Given the description of an element on the screen output the (x, y) to click on. 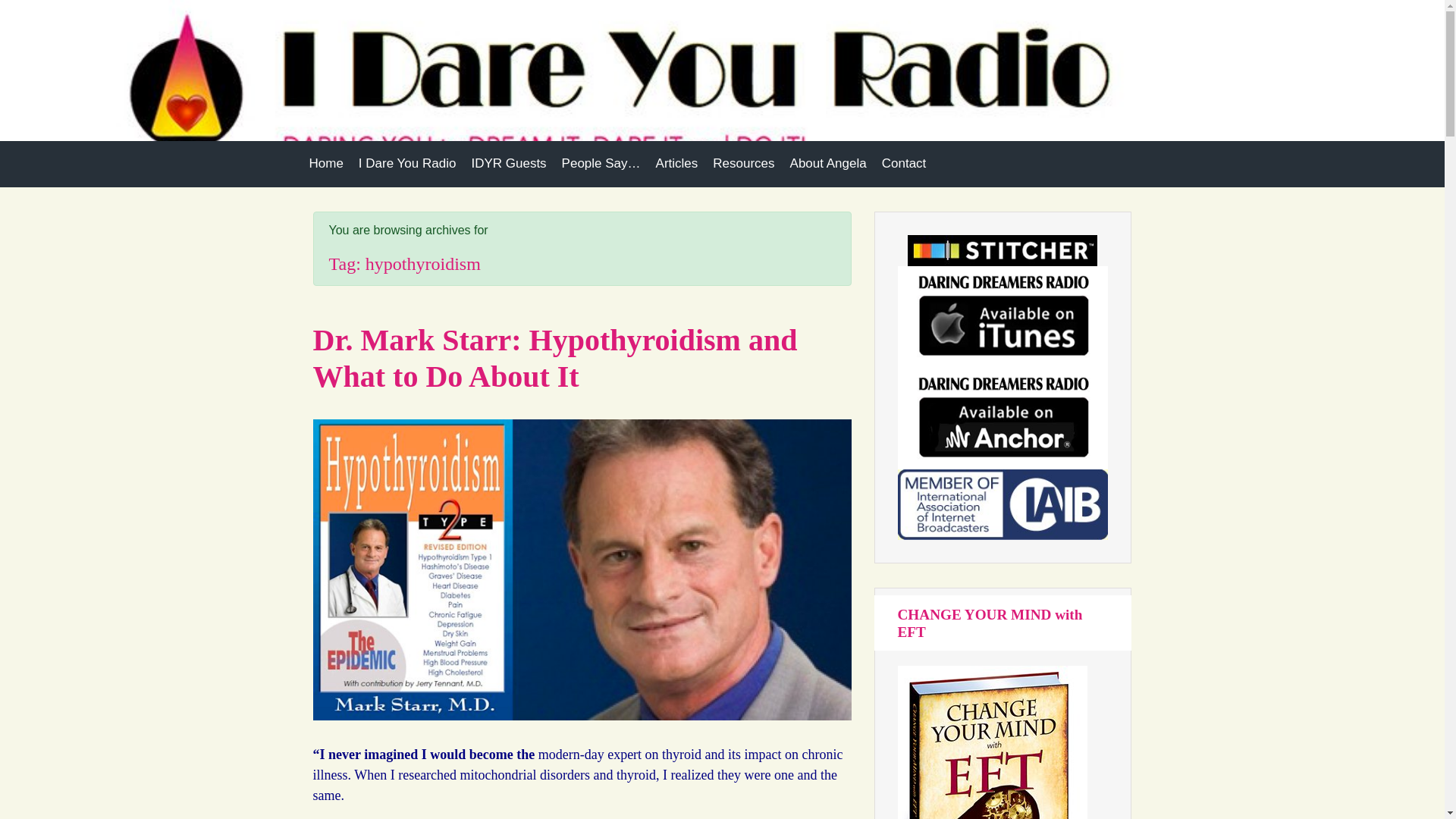
Resources (743, 163)
Skip to main content (16, 7)
I Dare You Radio (407, 163)
Home (325, 163)
Dr. Mark Starr: Hypothyroidism and What to Do About It (554, 357)
Articles (676, 163)
About Angela (828, 163)
Contact (904, 163)
IDYR Guests (507, 163)
